Given the description of an element on the screen output the (x, y) to click on. 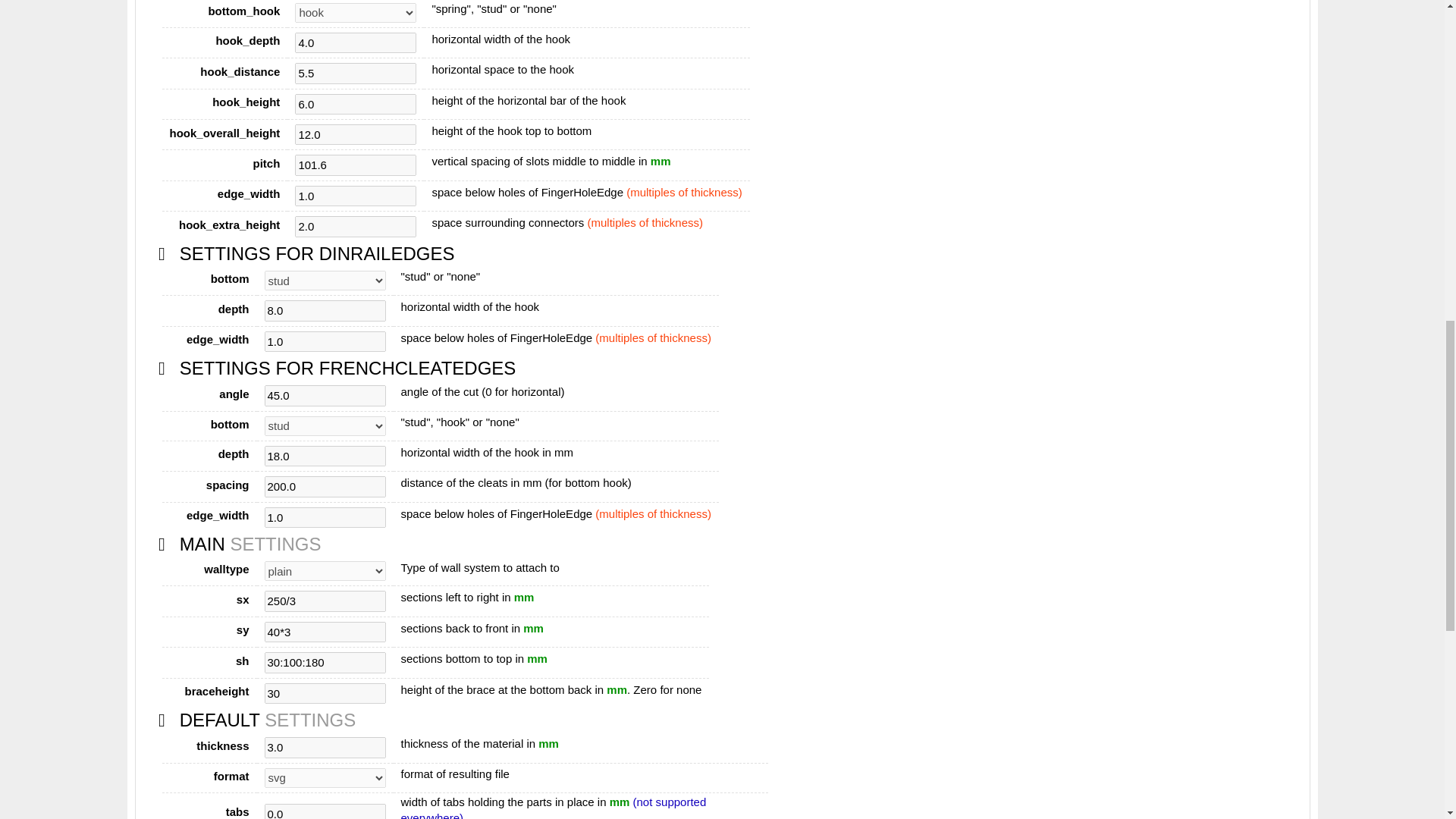
101.6 (355, 164)
45.0 (324, 394)
1.0 (355, 195)
2.0 (355, 226)
8.0 (324, 310)
6.0 (355, 104)
1.0 (324, 340)
4.0 (355, 42)
12.0 (355, 134)
5.5 (355, 73)
